Given the description of an element on the screen output the (x, y) to click on. 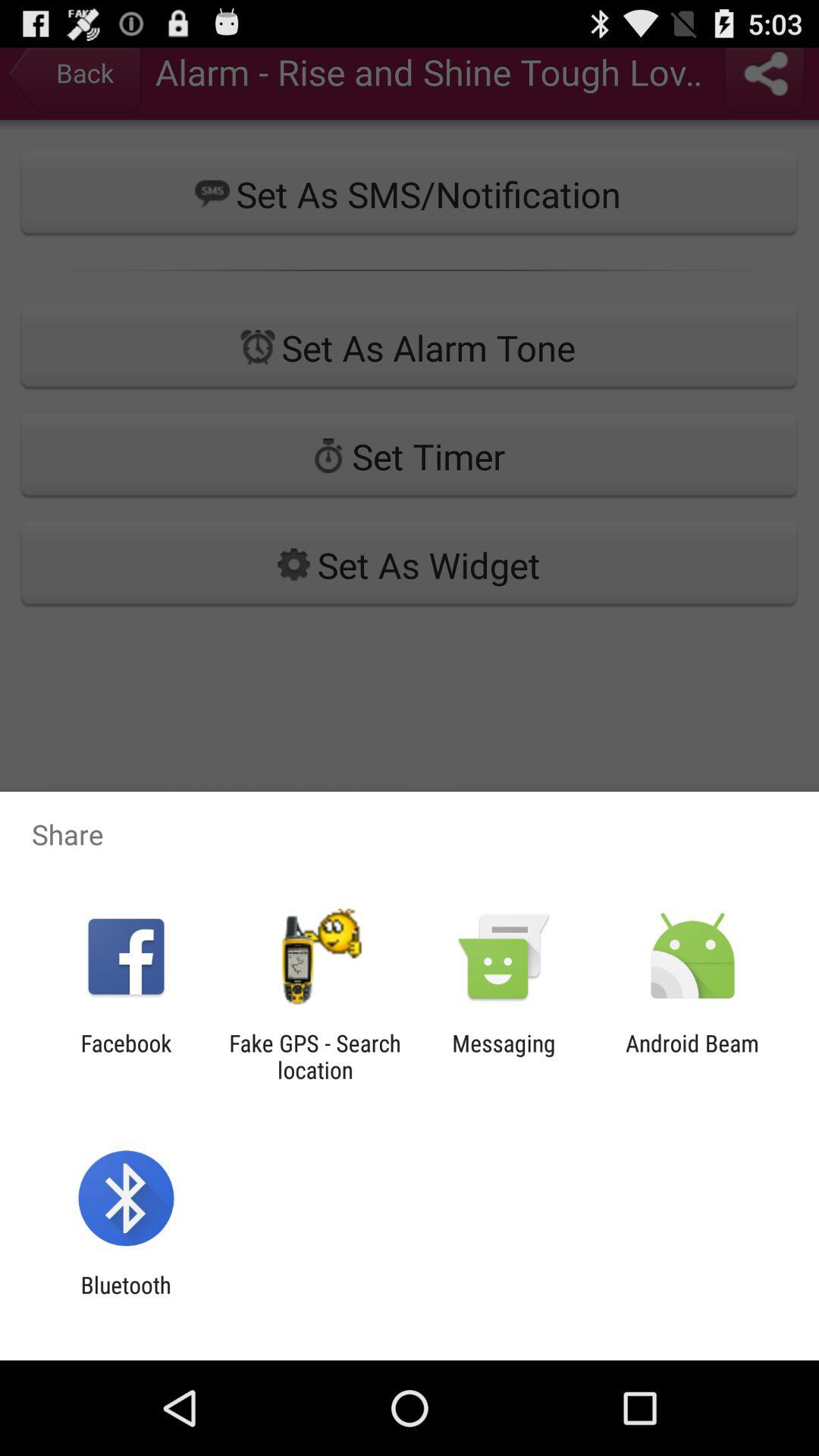
launch icon to the right of facebook item (314, 1056)
